Given the description of an element on the screen output the (x, y) to click on. 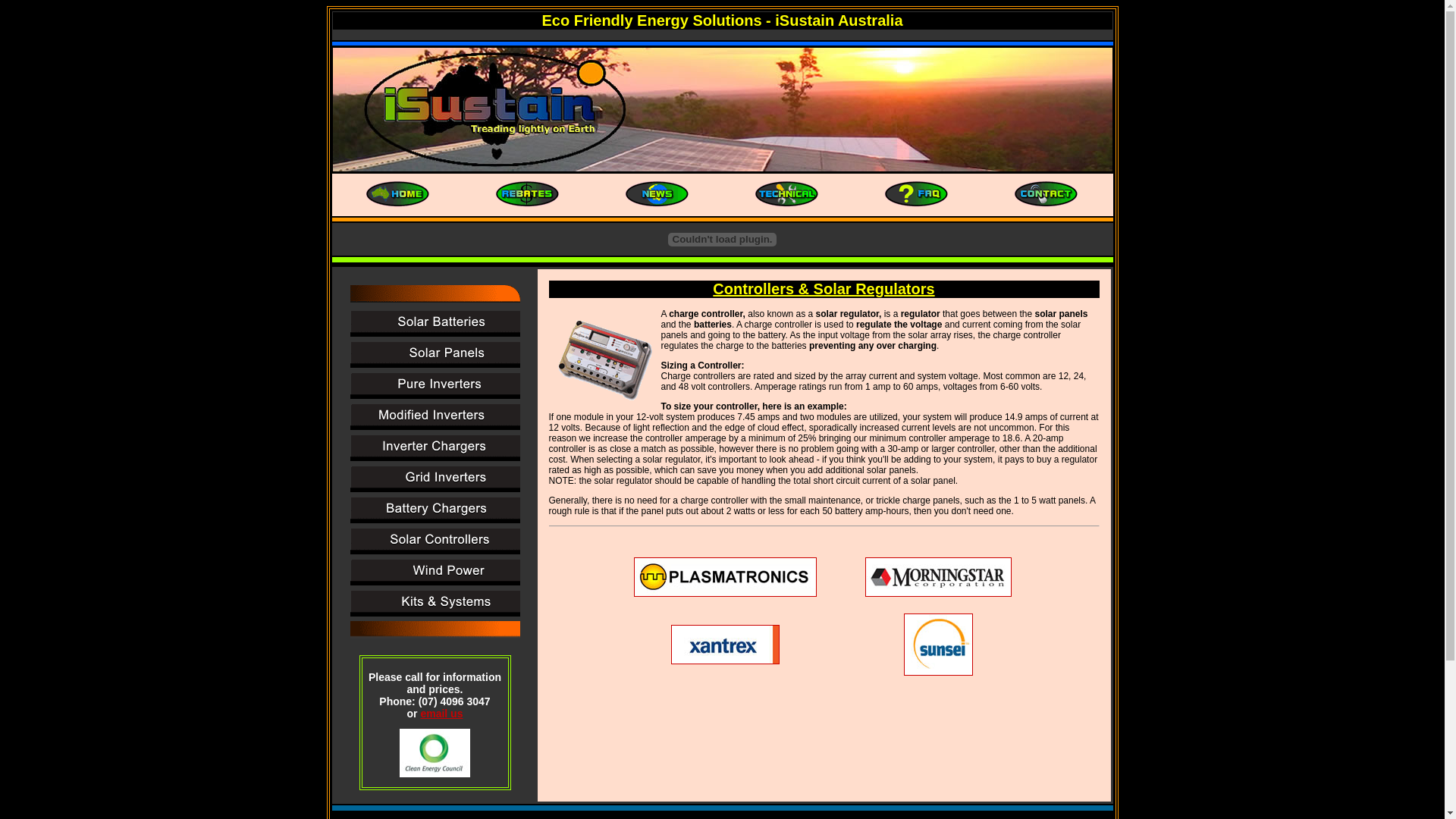
email us Element type: text (441, 713)
